Given the description of an element on the screen output the (x, y) to click on. 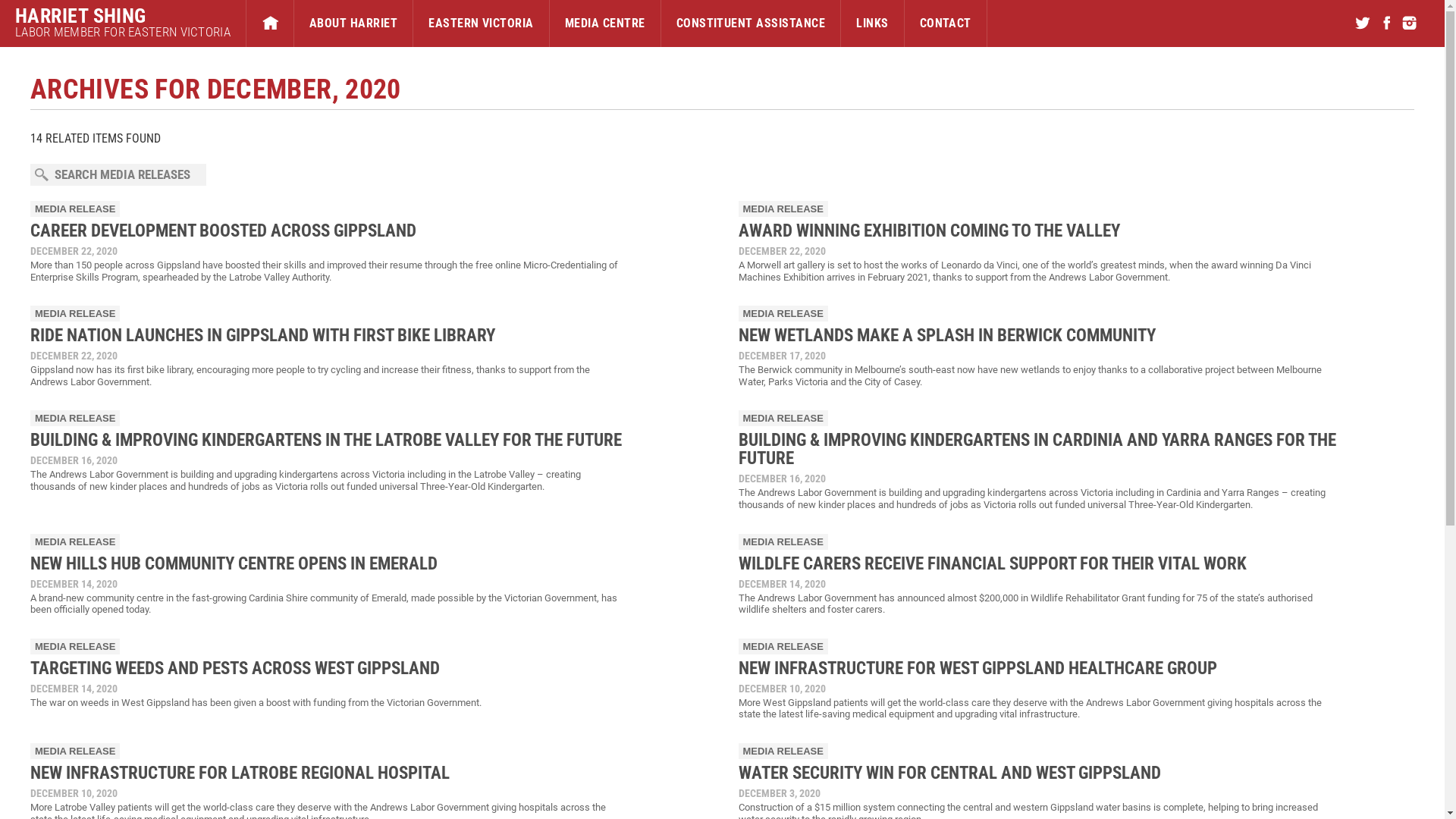
MEDIA RELEASE Element type: text (783, 418)
LABOR MEMBER FOR EASTERN VICTORIA Element type: text (122, 31)
NEW WETLANDS MAKE A SPLASH IN BERWICK COMMUNITY Element type: text (946, 335)
NEW INFRASTRUCTURE FOR WEST GIPPSLAND HEALTHCARE GROUP Element type: text (977, 668)
MEDIA RELEASE Element type: text (74, 313)
MEDIA RELEASE Element type: text (74, 751)
AWARD WINNING EXHIBITION COMING TO THE VALLEY Element type: text (929, 230)
CAREER DEVELOPMENT BOOSTED ACROSS GIPPSLAND Element type: text (223, 230)
TARGETING WEEDS AND PESTS ACROSS WEST GIPPSLAND   Element type: text (238, 668)
NEW HILLS HUB COMMUNITY CENTRE OPENS IN EMERALD Element type: text (233, 563)
CONSTITUENT ASSISTANCE Element type: text (750, 23)
MEDIA RELEASE Element type: text (783, 541)
MEDIA RELEASE Element type: text (783, 751)
MEDIA RELEASE Element type: text (783, 313)
MEDIA RELEASE Element type: text (783, 208)
CONTACT Element type: text (945, 23)
EASTERN VICTORIA Element type: text (481, 23)
MEDIA RELEASE Element type: text (74, 541)
MEDIA RELEASE Element type: text (74, 418)
LINKS Element type: text (871, 23)
HOME Element type: text (269, 23)
MEDIA RELEASE Element type: text (783, 646)
MEDIA RELEASE Element type: text (74, 646)
MEDIA RELEASE Element type: text (74, 208)
ABOUT HARRIET Element type: text (353, 23)
MEDIA CENTRE Element type: text (604, 23)
RIDE NATION LAUNCHES IN GIPPSLAND WITH FIRST BIKE LIBRARY Element type: text (262, 335)
NEW INFRASTRUCTURE FOR LATROBE REGIONAL HOSPITAL Element type: text (239, 772)
HARRIET SHING Element type: text (122, 15)
WATER SECURITY WIN FOR CENTRAL AND WEST GIPPSLAND Element type: text (949, 772)
